Given the description of an element on the screen output the (x, y) to click on. 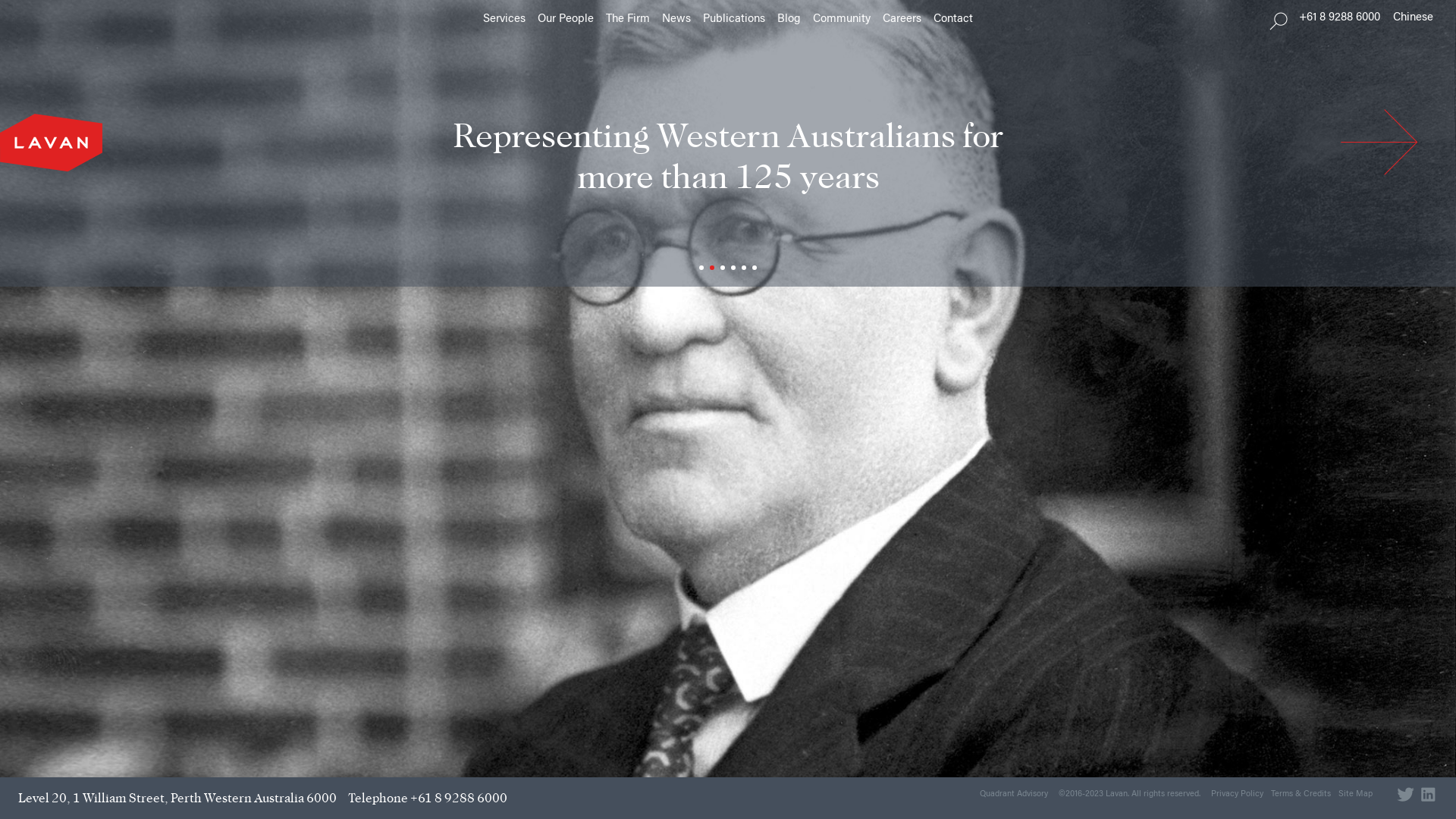
Privacy Policy Element type: text (1237, 794)
Publications Element type: text (733, 19)
Careers Element type: text (901, 19)
News Element type: text (676, 19)
Terms & Credits Element type: text (1300, 794)
Quadrant Advisory Element type: text (1013, 794)
The Firm Element type: text (627, 19)
Services Element type: text (504, 19)
Site Map Element type: text (1355, 794)
Community Element type: text (841, 19)
Our People Element type: text (565, 19)
Blog Element type: text (788, 19)
Contact Element type: text (952, 19)
